Given the description of an element on the screen output the (x, y) to click on. 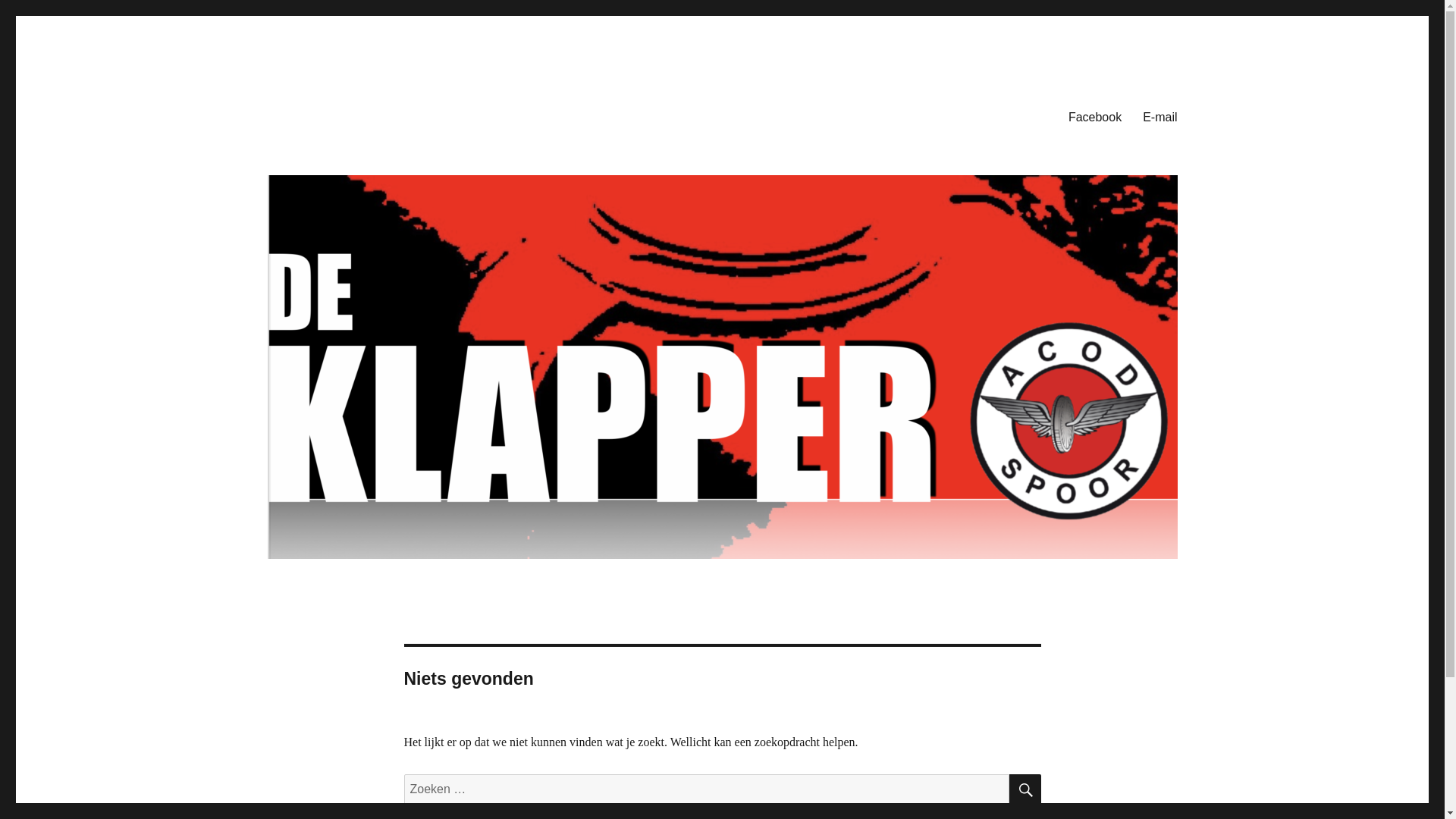
E-mail Element type: text (1159, 116)
ZOEKEN Element type: text (1024, 789)
Facebook Element type: text (1094, 116)
De Klapper Element type: text (322, 92)
